Given the description of an element on the screen output the (x, y) to click on. 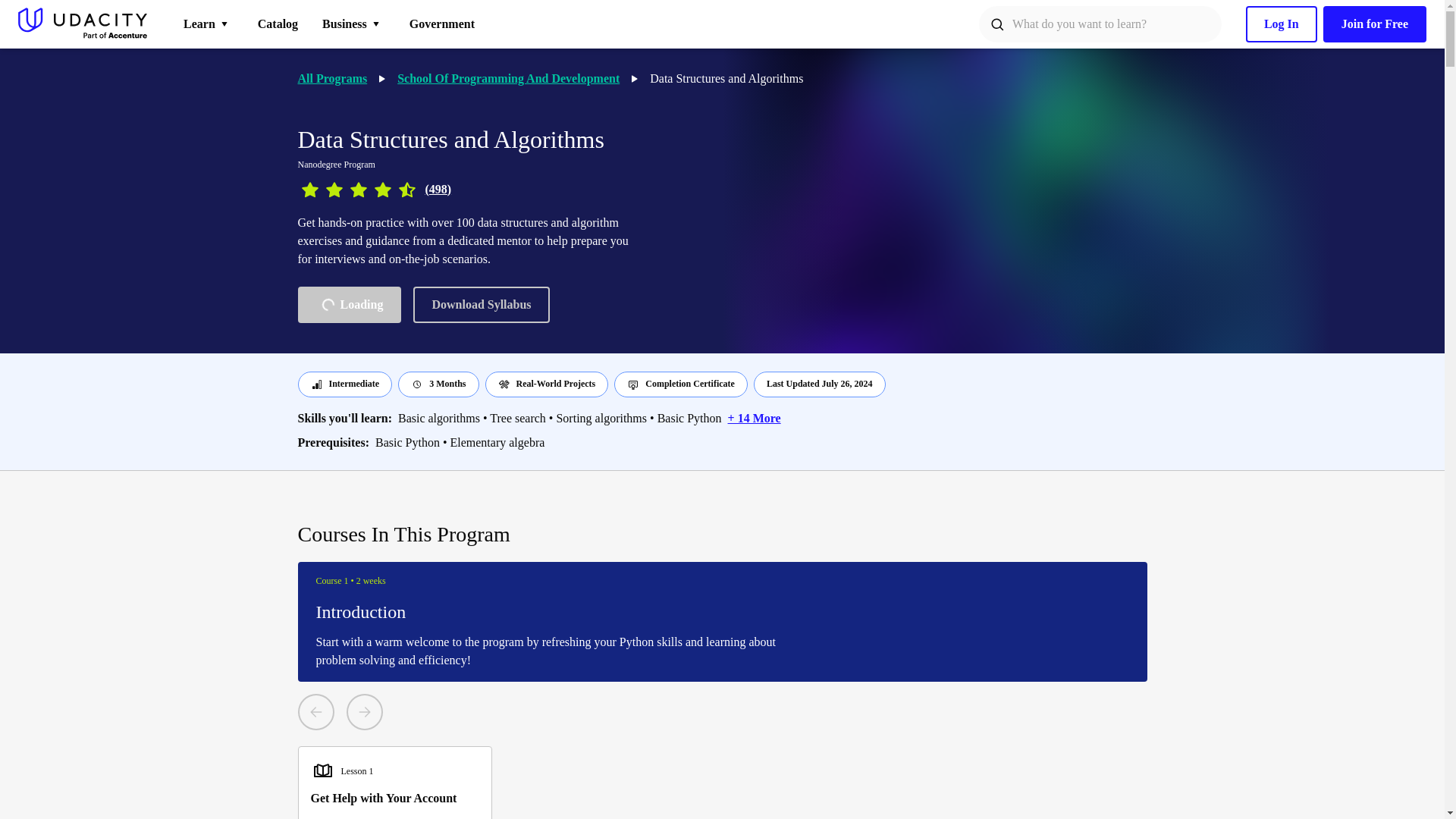
Business (349, 304)
All Programs (353, 23)
School Of Programming And Development (331, 78)
Join for Free (508, 78)
Catalog (1374, 23)
Learn (278, 23)
Government (208, 23)
Log In (441, 23)
